Given the description of an element on the screen output the (x, y) to click on. 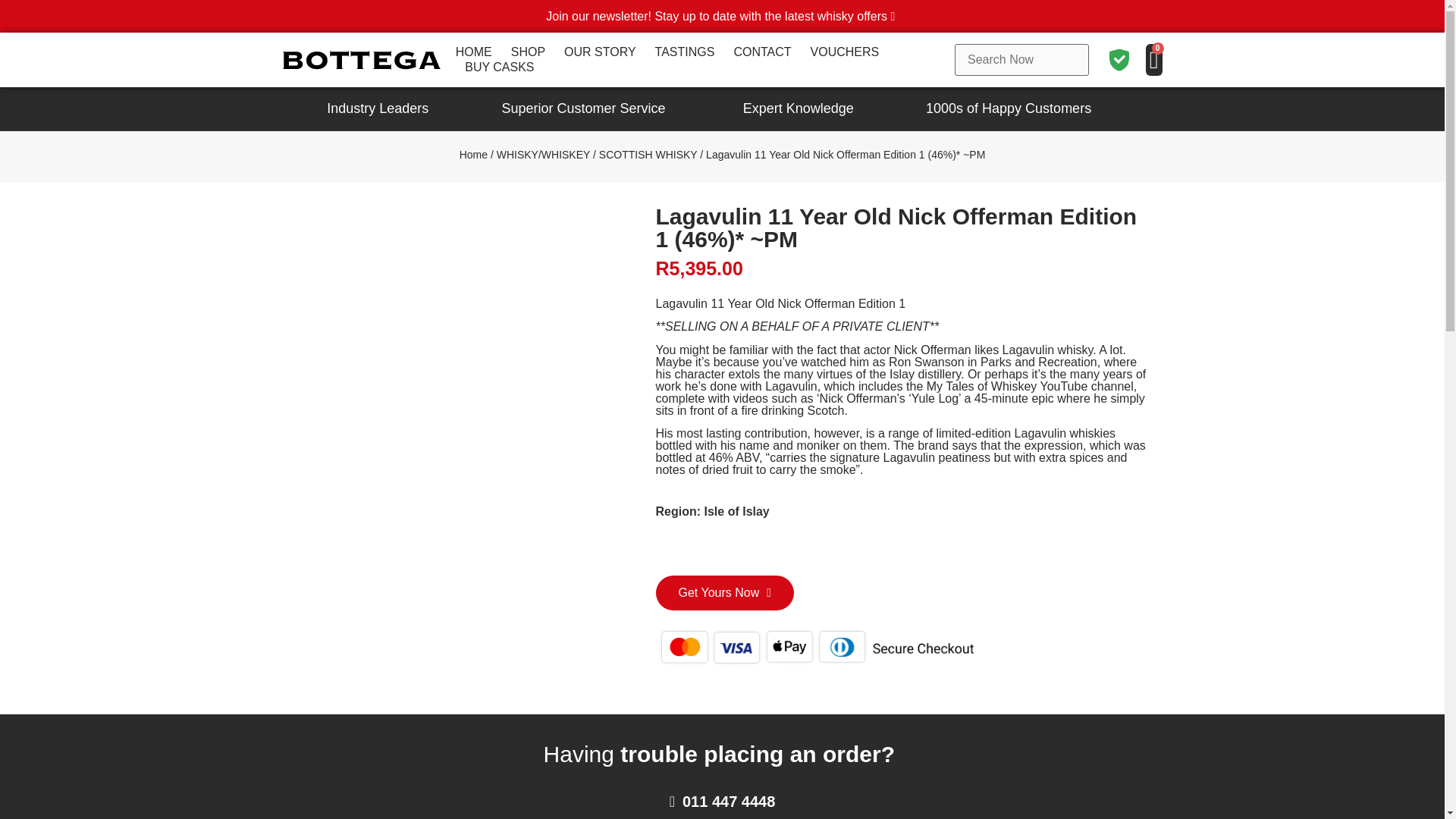
OUR STORY (600, 52)
CONTACT (761, 52)
SHOP (527, 52)
HOME (473, 52)
BUY CASKS (499, 67)
VOUCHERS (844, 52)
TASTINGS (684, 52)
